Given the description of an element on the screen output the (x, y) to click on. 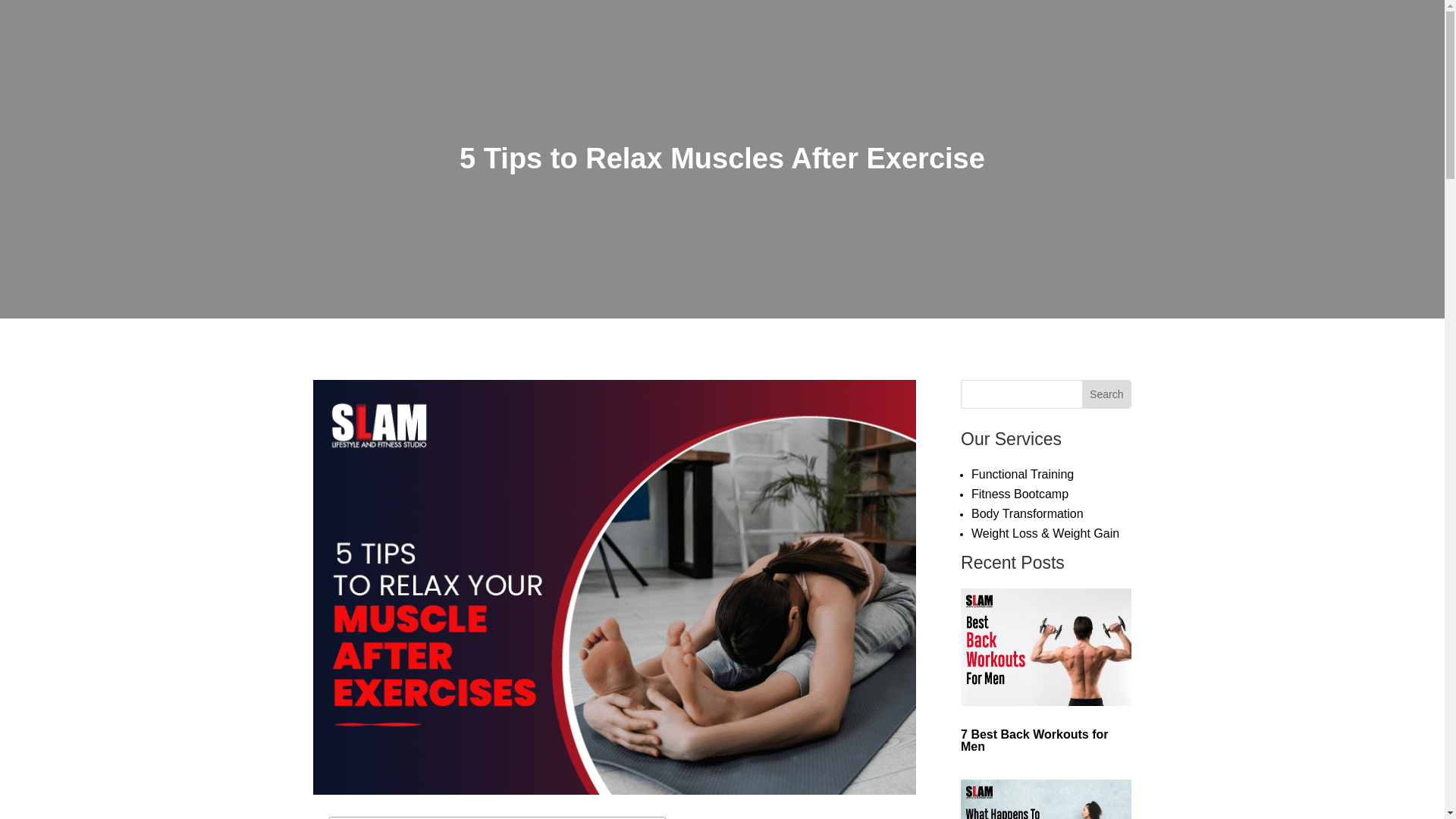
Functional Training (1022, 473)
Fitness Bootcamp (1019, 493)
Body Transformation (1027, 513)
Search (1106, 393)
Search (1106, 393)
7 Best Back Workouts for Men (1034, 740)
Search (1106, 393)
